Given the description of an element on the screen output the (x, y) to click on. 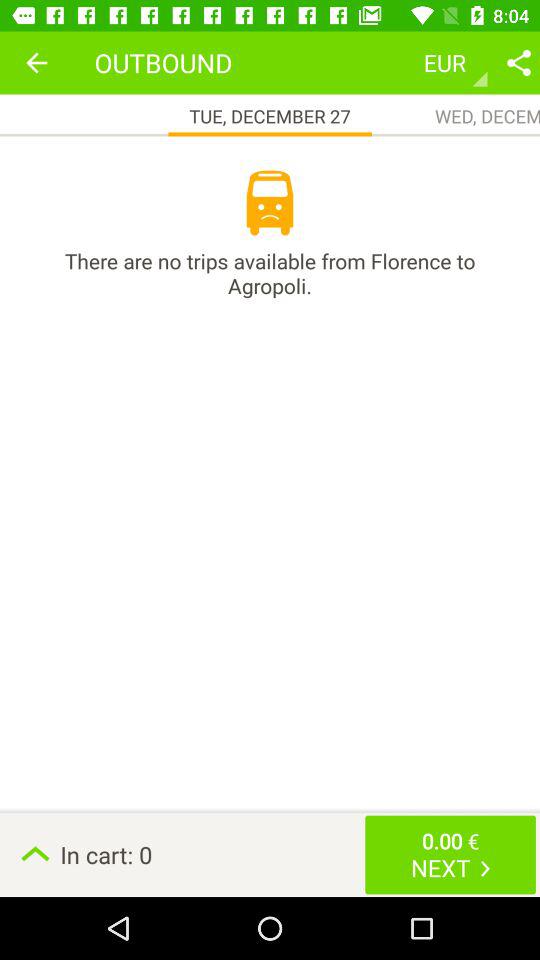
press the item next to outbound icon (36, 62)
